Given the description of an element on the screen output the (x, y) to click on. 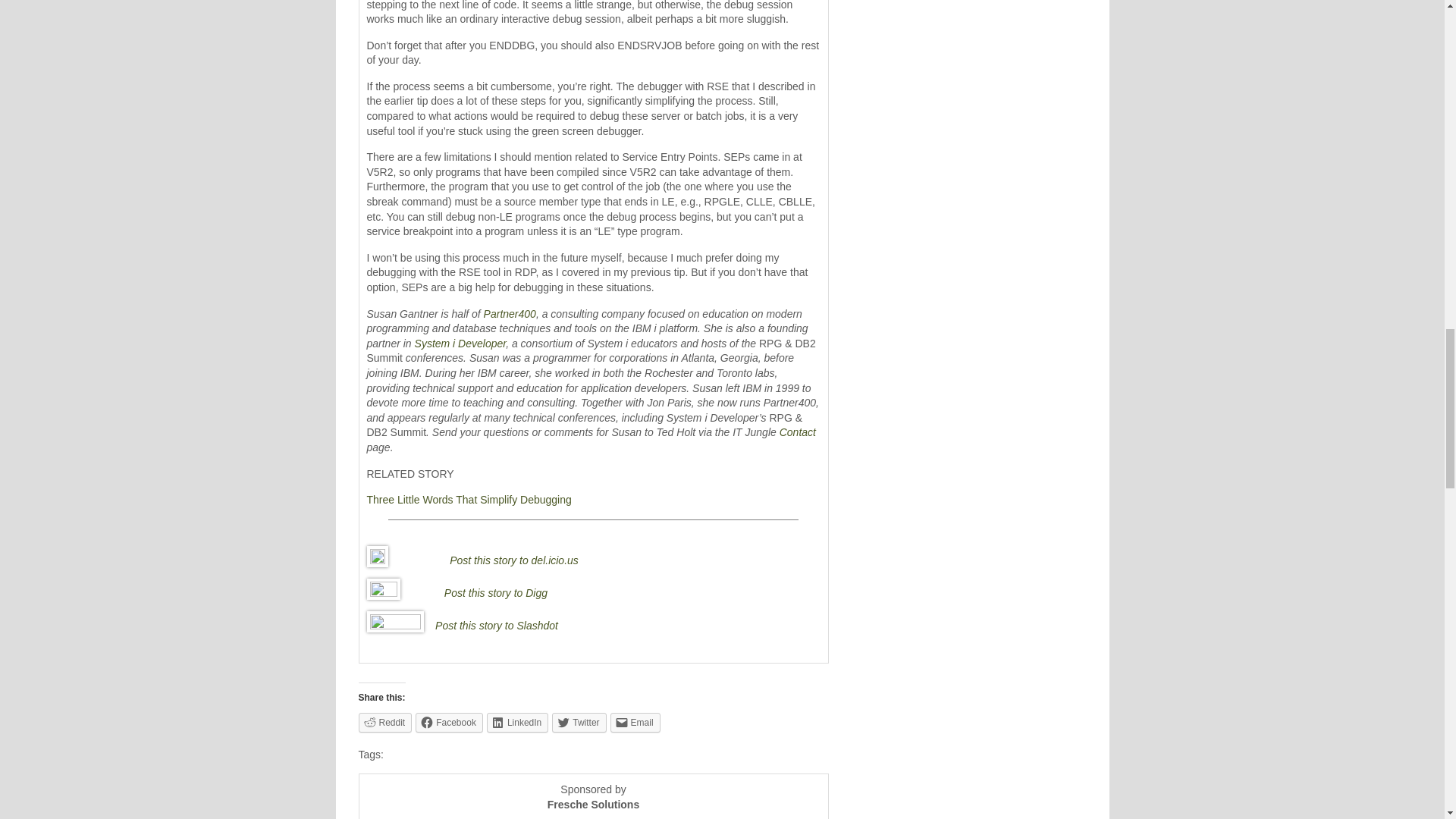
Click to share on LinkedIn (517, 722)
LinkedIn (517, 722)
Reddit (385, 722)
Click to share on Twitter (578, 722)
Post this story to Digg (495, 592)
Post this story to del.icio.us (513, 560)
Post this story to Slashdot (496, 625)
Twitter (578, 722)
Email (635, 722)
Facebook (448, 722)
